Given the description of an element on the screen output the (x, y) to click on. 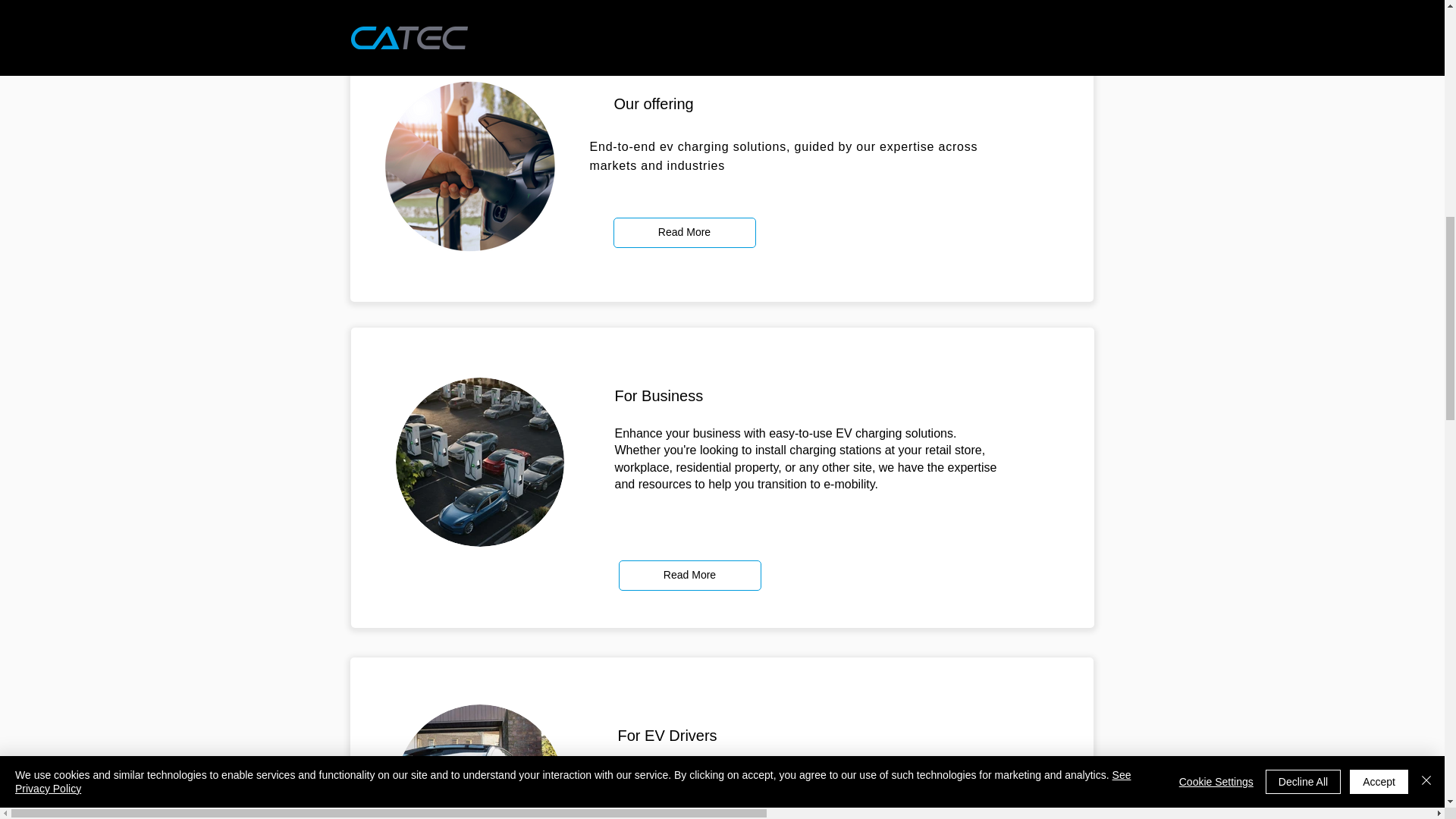
Read More (689, 575)
Offering.png (480, 761)
Offering.png (470, 169)
Read More (683, 232)
Offering.png (480, 462)
